Given the description of an element on the screen output the (x, y) to click on. 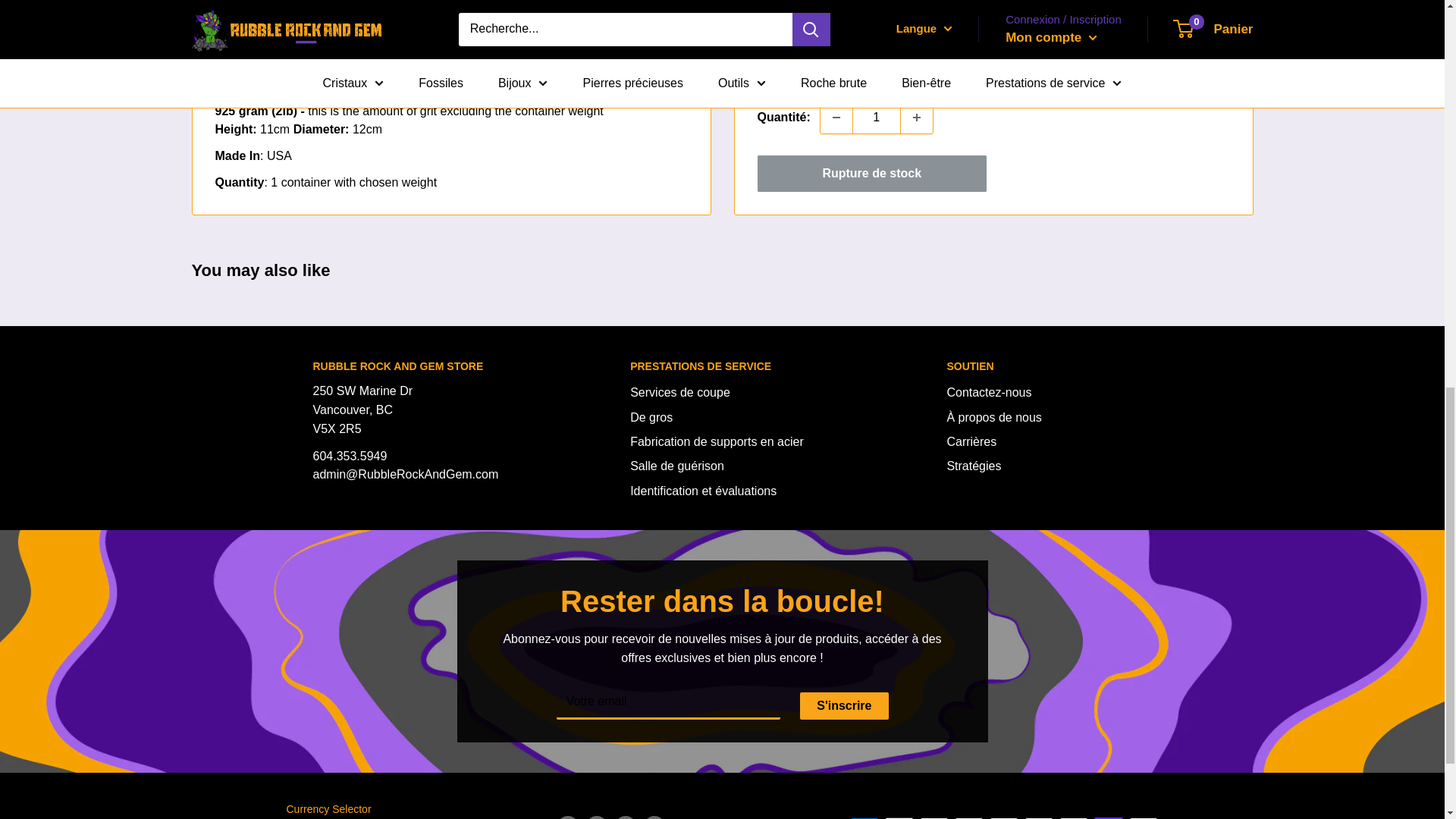
Rubble Rock and Gem Phone Number (350, 455)
